Given the description of an element on the screen output the (x, y) to click on. 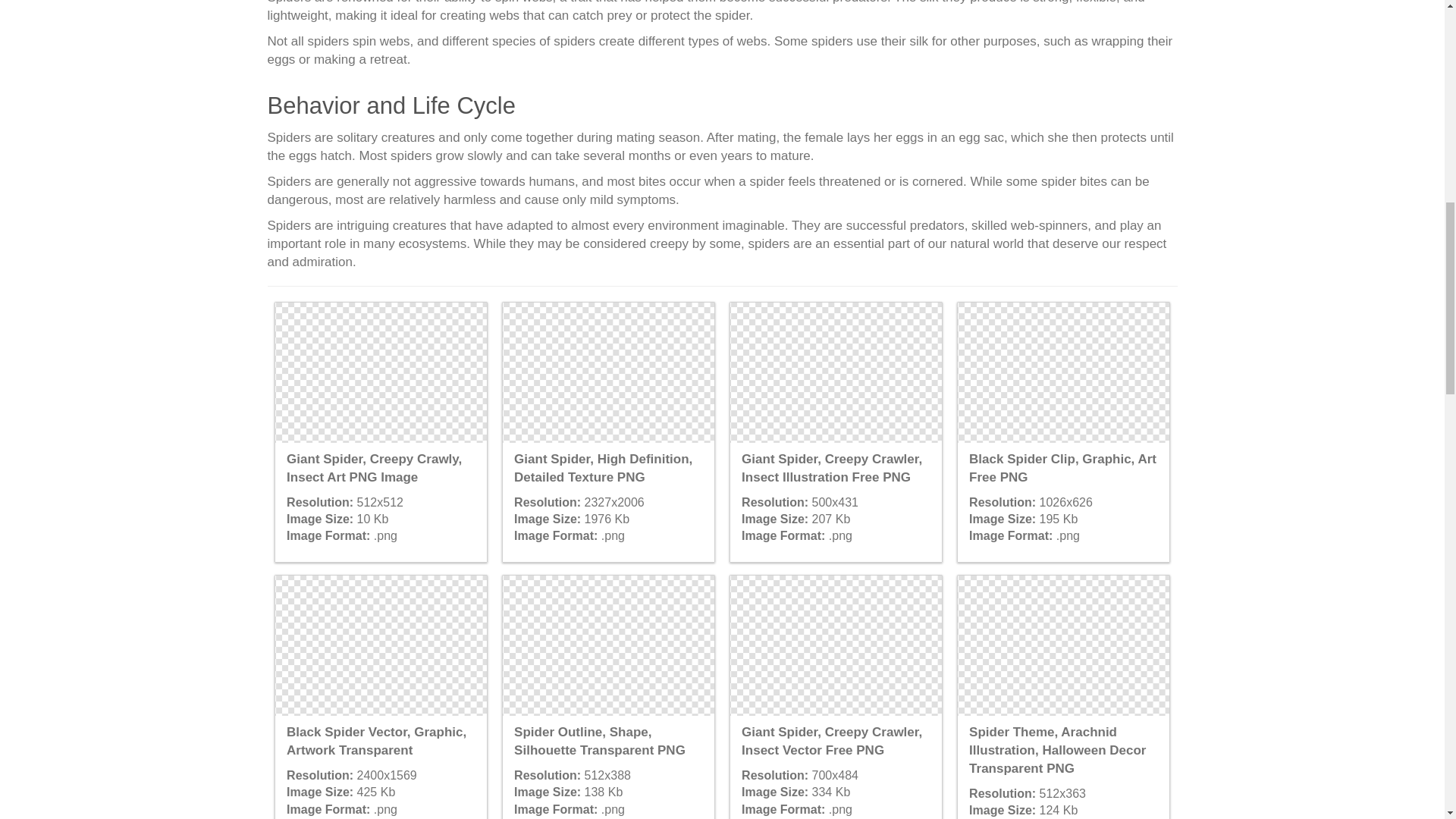
Black Spider Vector, Graphic, Artwork Transparent (380, 645)
Giant Spider, High Definition, Detailed Texture PNG (607, 372)
Giant Spider, Creepy Crawly, Insect Art PNG Image (380, 372)
Spider Outline, Shape, Silhouette Transparent PNG (607, 645)
